Given the description of an element on the screen output the (x, y) to click on. 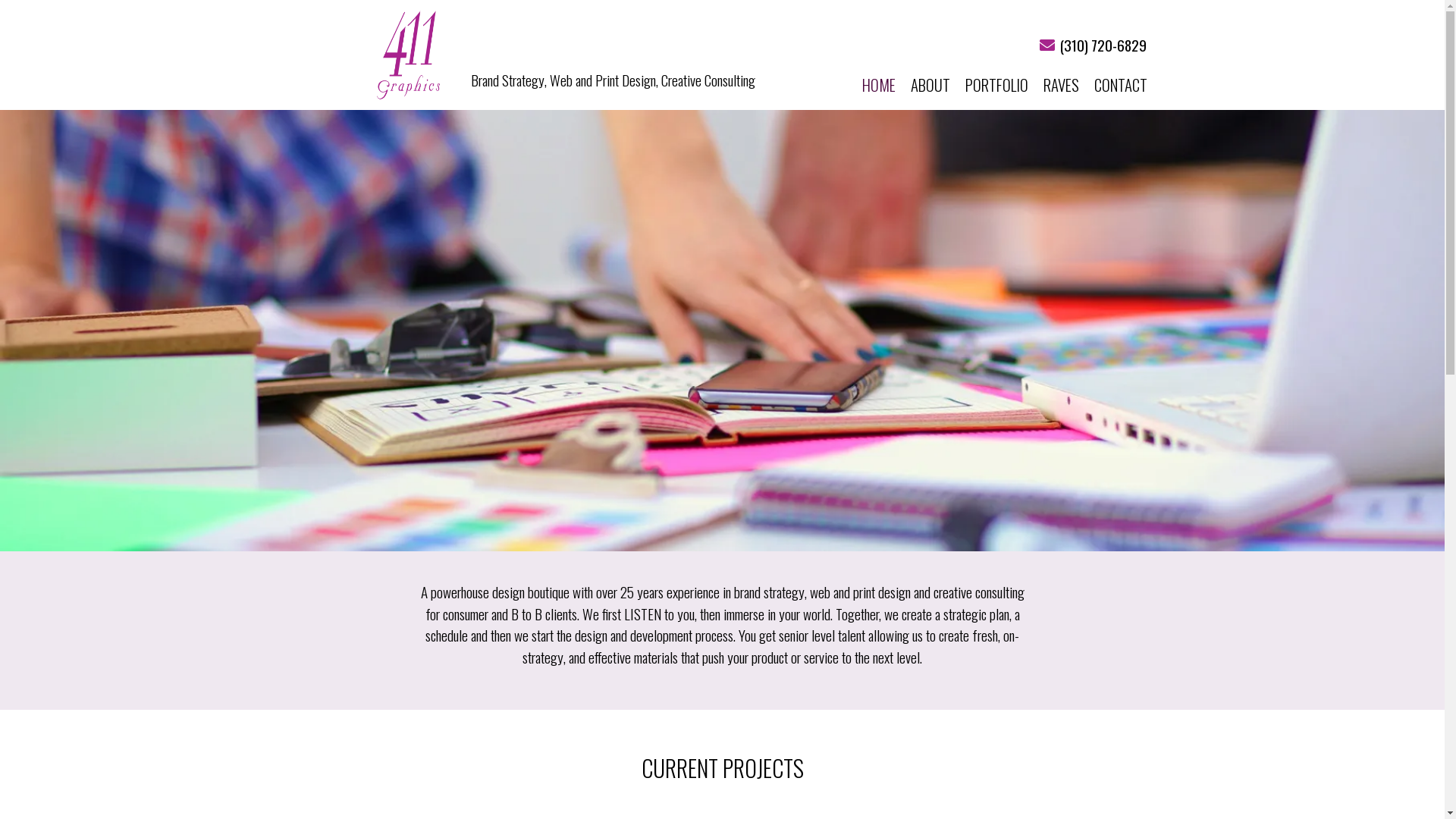
CONTACT Element type: text (1119, 84)
(310) 720-6829 Element type: text (1103, 45)
PORTFOLIO Element type: text (995, 84)
HOME Element type: text (877, 84)
RAVES Element type: text (1061, 84)
ABOUT Element type: text (929, 84)
